Given the description of an element on the screen output the (x, y) to click on. 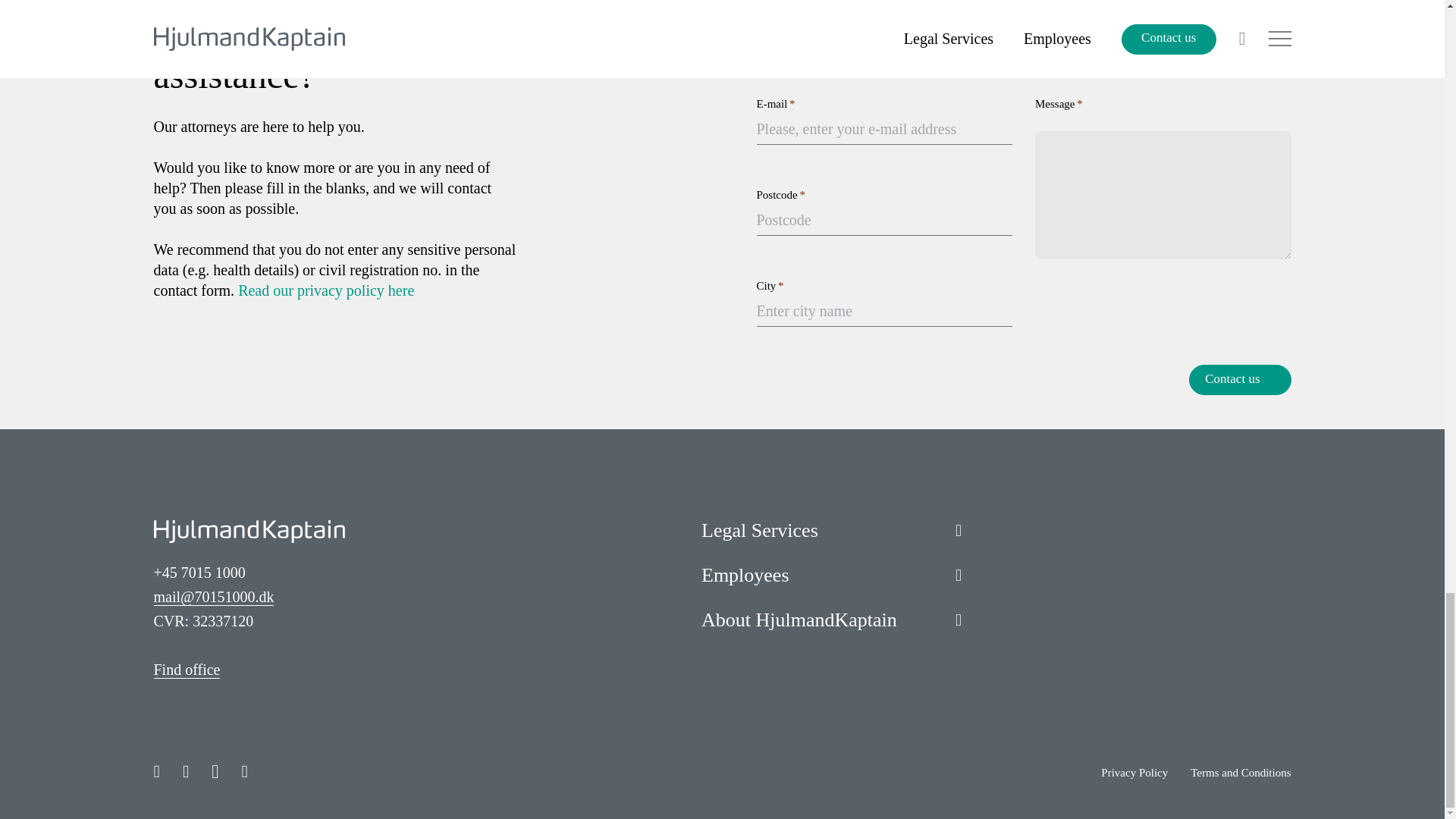
Contact us (1239, 379)
Privacy Policy (325, 289)
Contact HjulmandKaptain (185, 669)
